Given the description of an element on the screen output the (x, y) to click on. 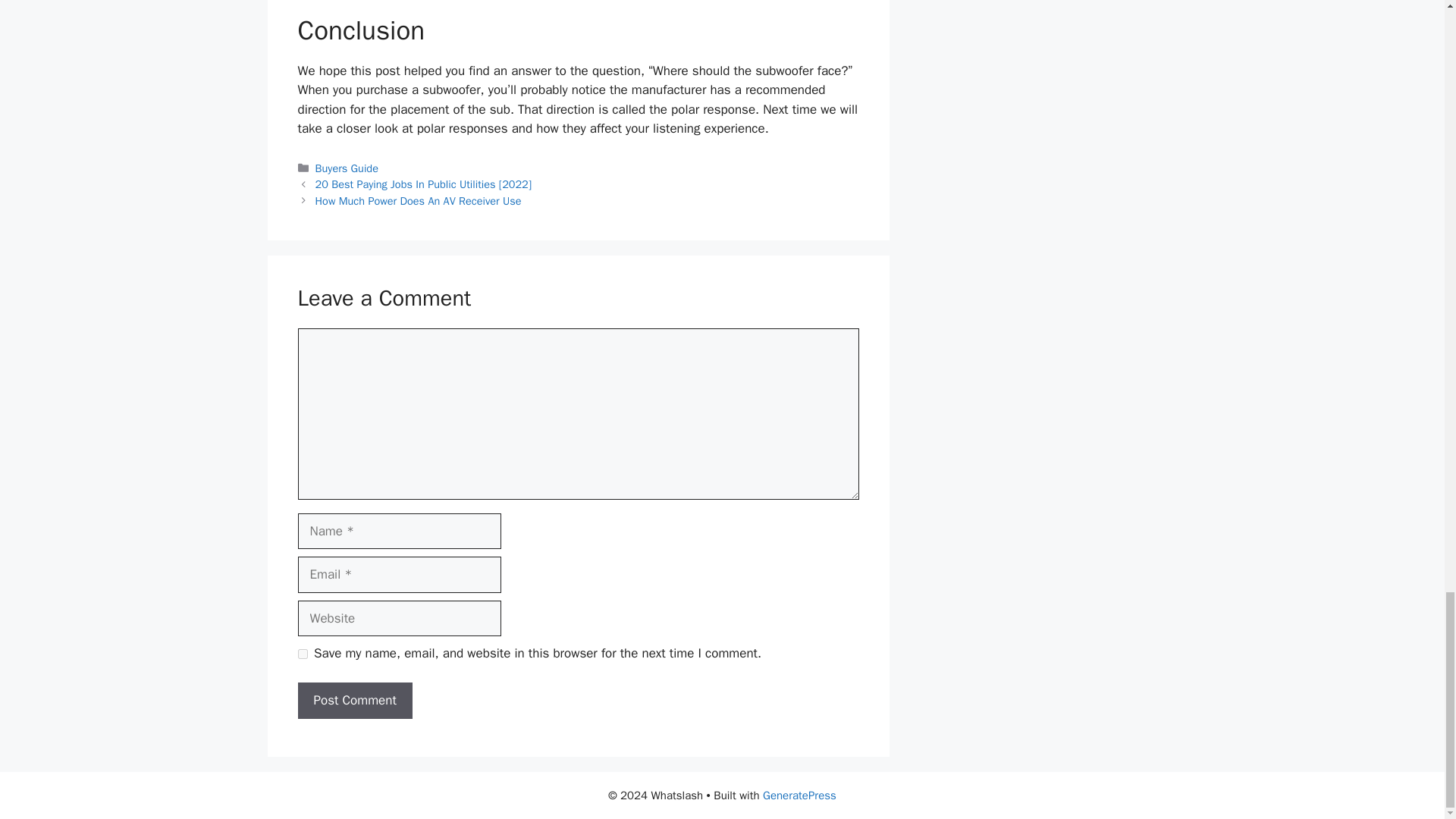
Buyers Guide (346, 168)
Post Comment (354, 700)
Post Comment (354, 700)
yes (302, 654)
GeneratePress (798, 795)
How Much Power Does An AV Receiver Use (418, 201)
